Given the description of an element on the screen output the (x, y) to click on. 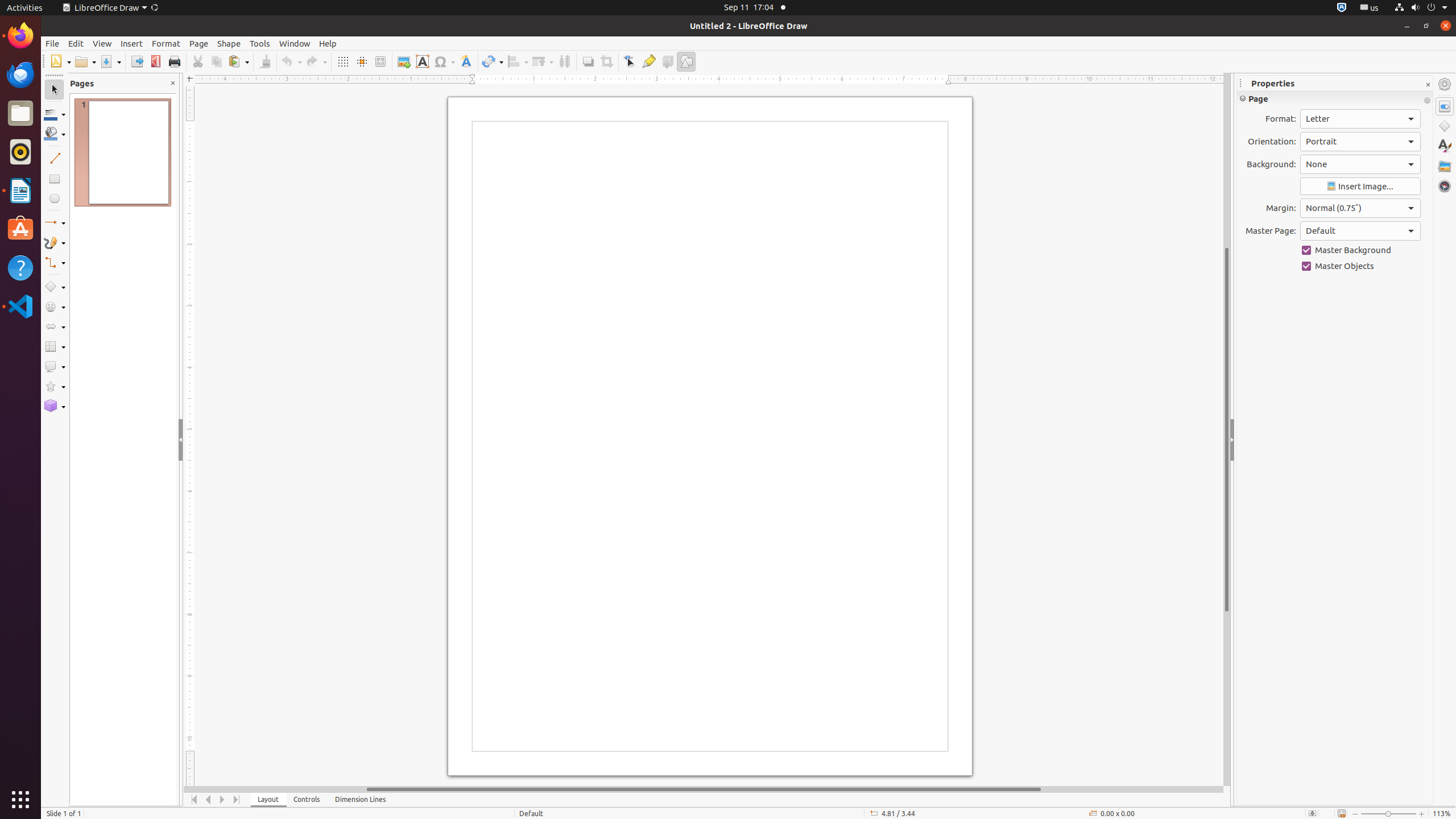
Ellipse Element type: push-button (53, 198)
Insert Element type: menu (131, 43)
Tools Element type: menu (259, 43)
Orientation: Element type: combo-box (1360, 141)
